Given the description of an element on the screen output the (x, y) to click on. 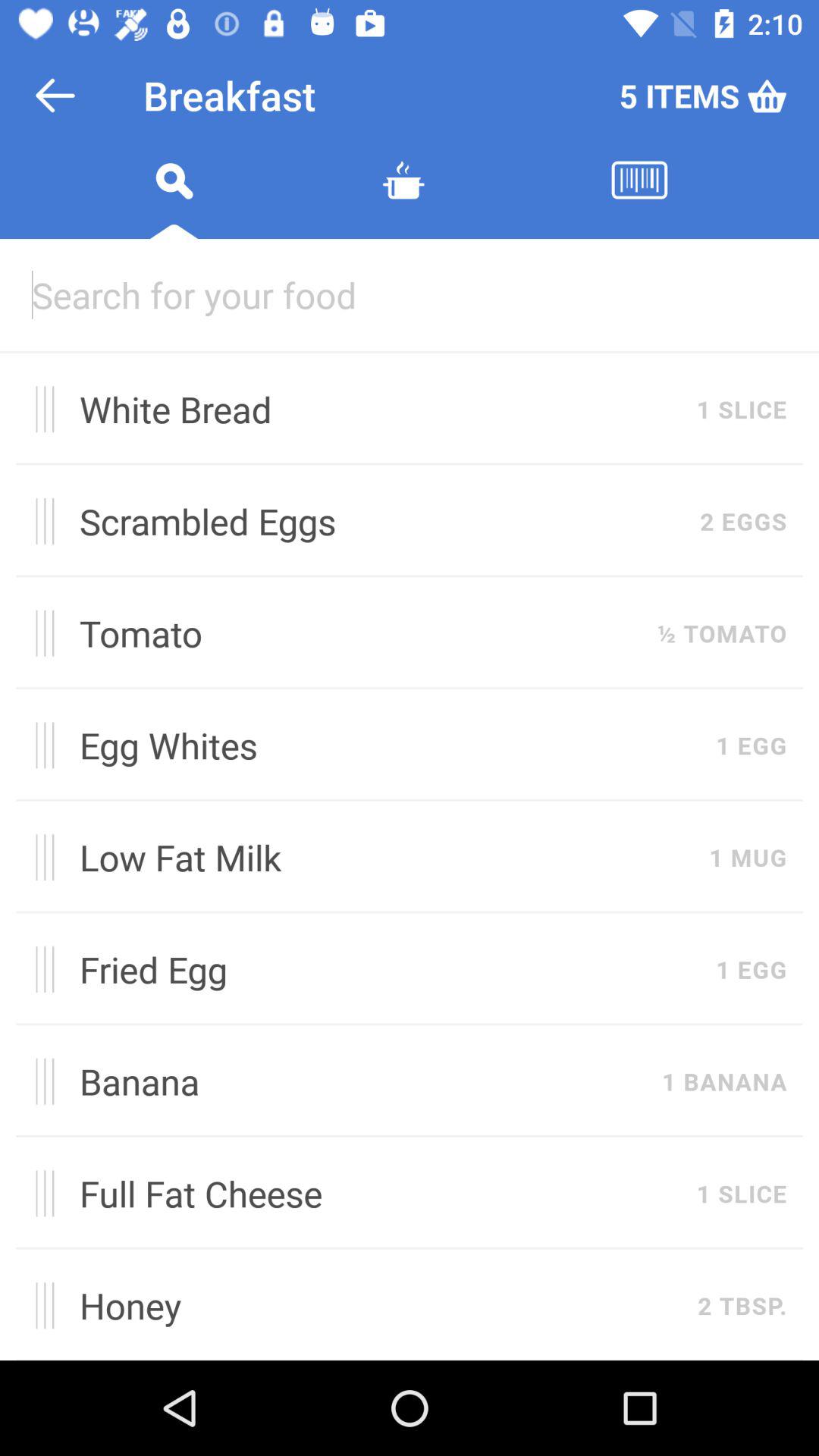
search (173, 198)
